Given the description of an element on the screen output the (x, y) to click on. 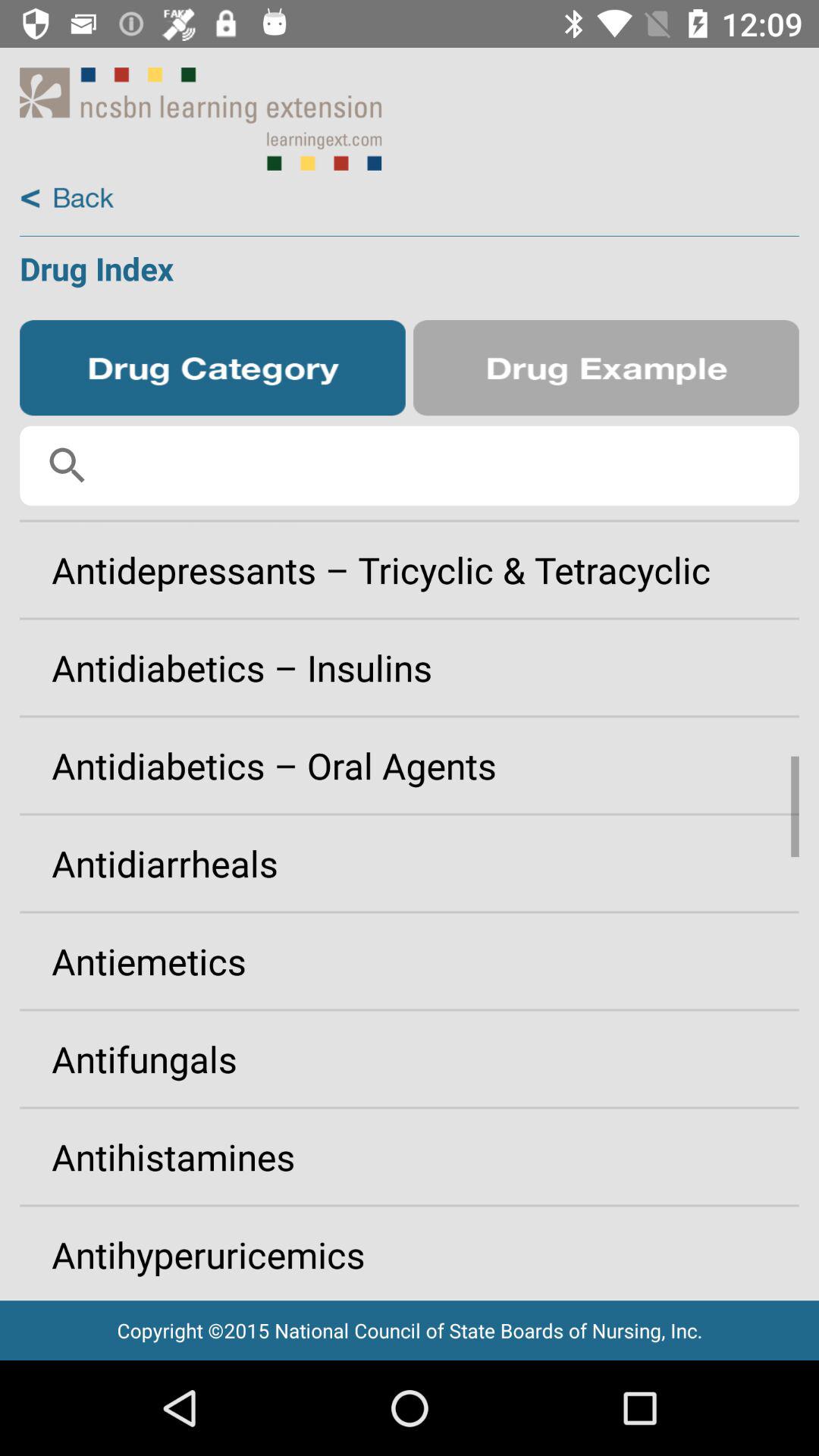
open icon below antiemetics app (409, 1058)
